Given the description of an element on the screen output the (x, y) to click on. 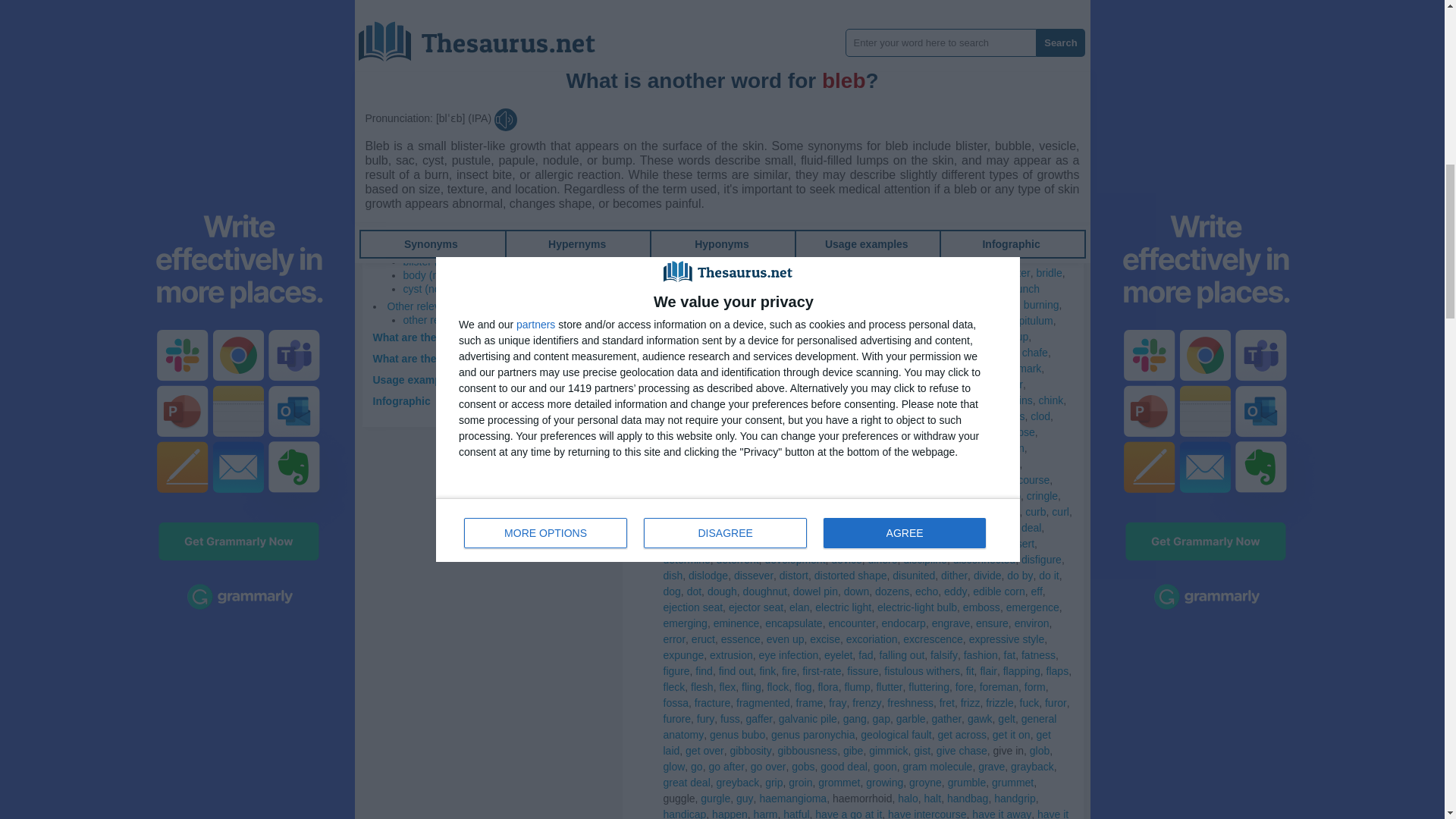
accede (937, 145)
Synonyms for Bleb (676, 145)
Synonyms for Bleb (670, 94)
abridgement (826, 145)
injury (699, 94)
wens (764, 94)
Synonyms for Bleb (887, 145)
Synonyms for Bleb (826, 145)
a-one (676, 145)
Synonyms for Bleb (764, 94)
